Given the description of an element on the screen output the (x, y) to click on. 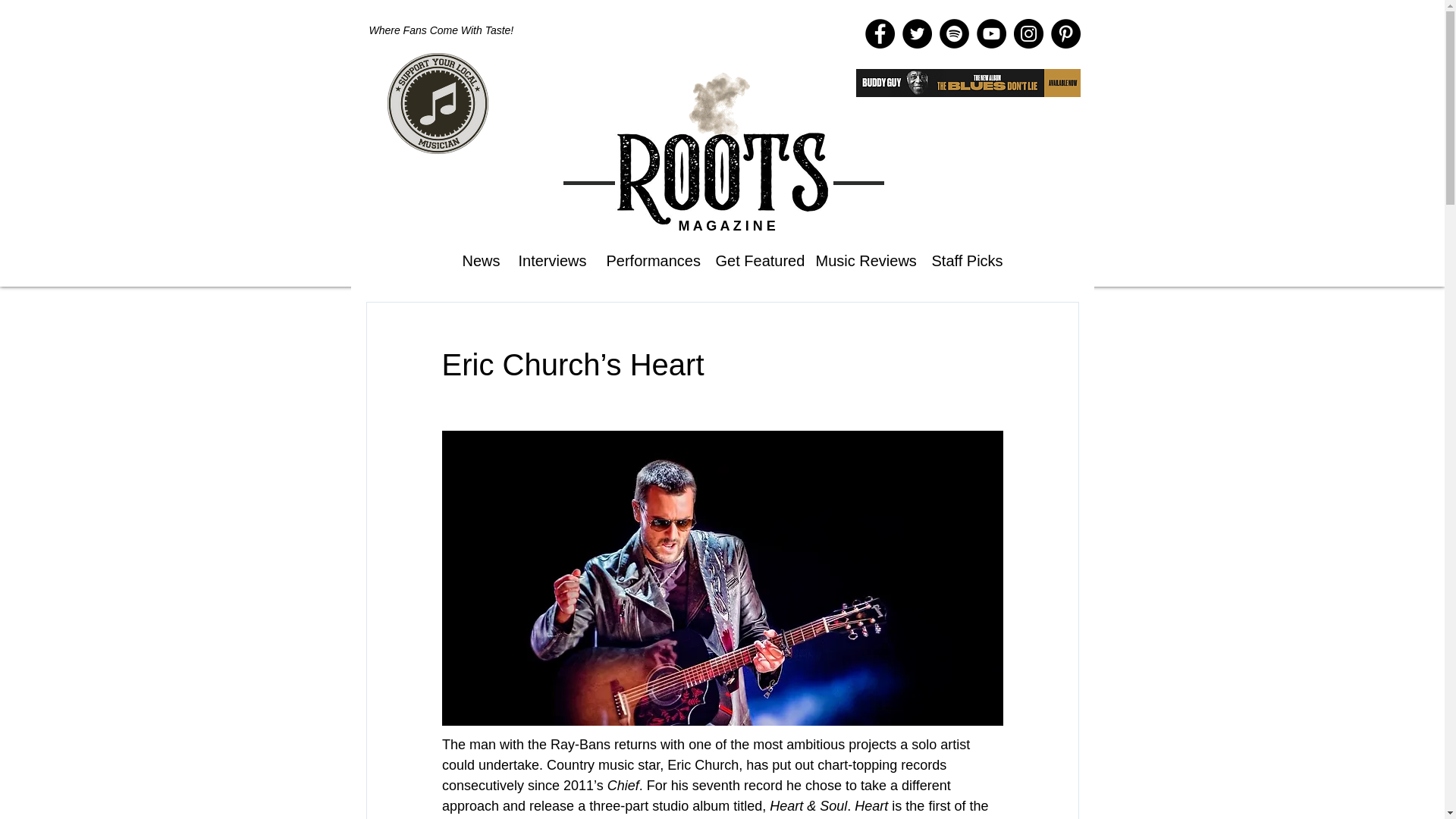
Interviews (550, 258)
Performances (648, 258)
Staff Picks (963, 258)
Get Featured (753, 258)
News (477, 258)
Music Reviews (861, 258)
